Given the description of an element on the screen output the (x, y) to click on. 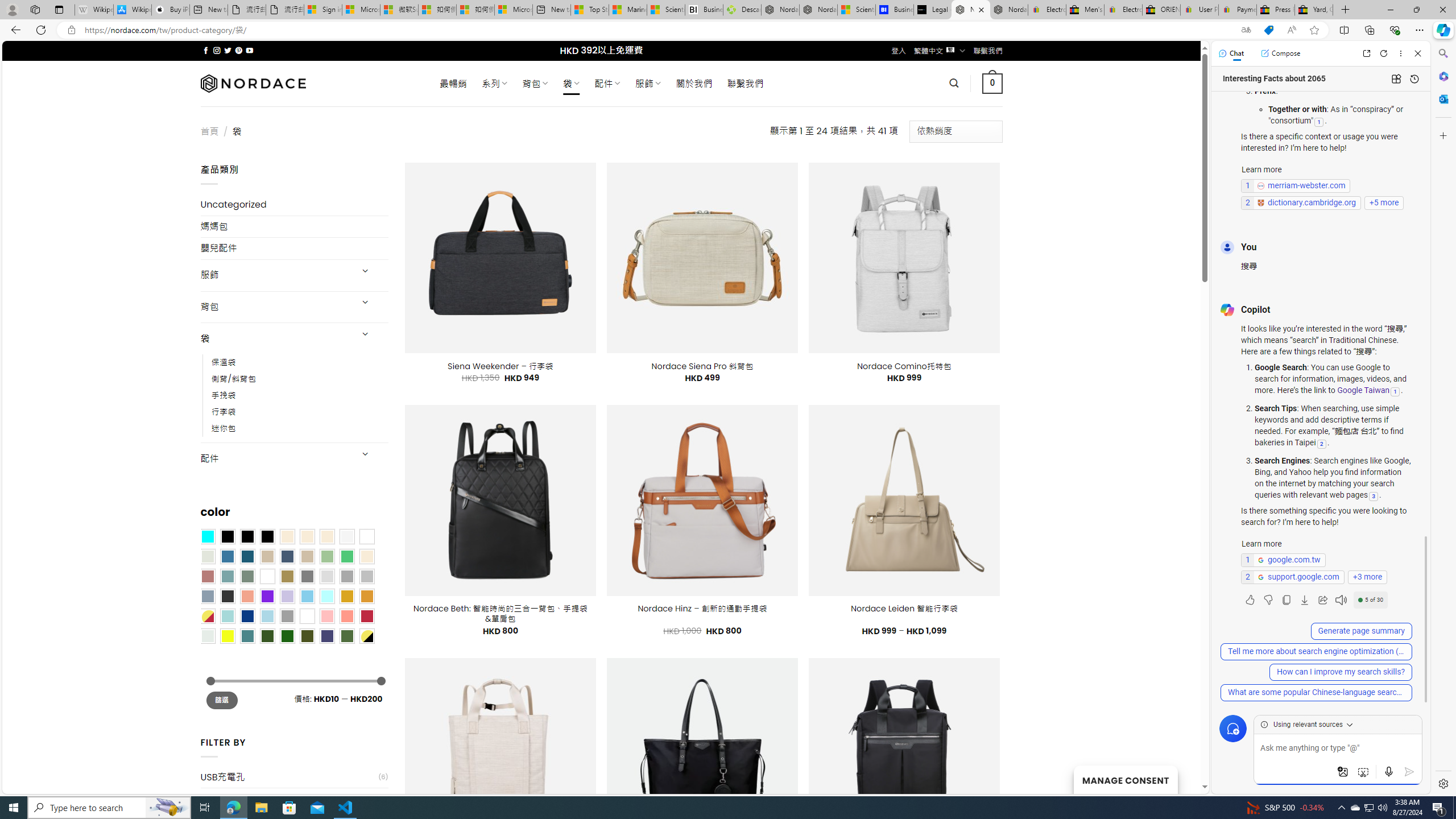
Top Stories - MSN (589, 9)
